Given the description of an element on the screen output the (x, y) to click on. 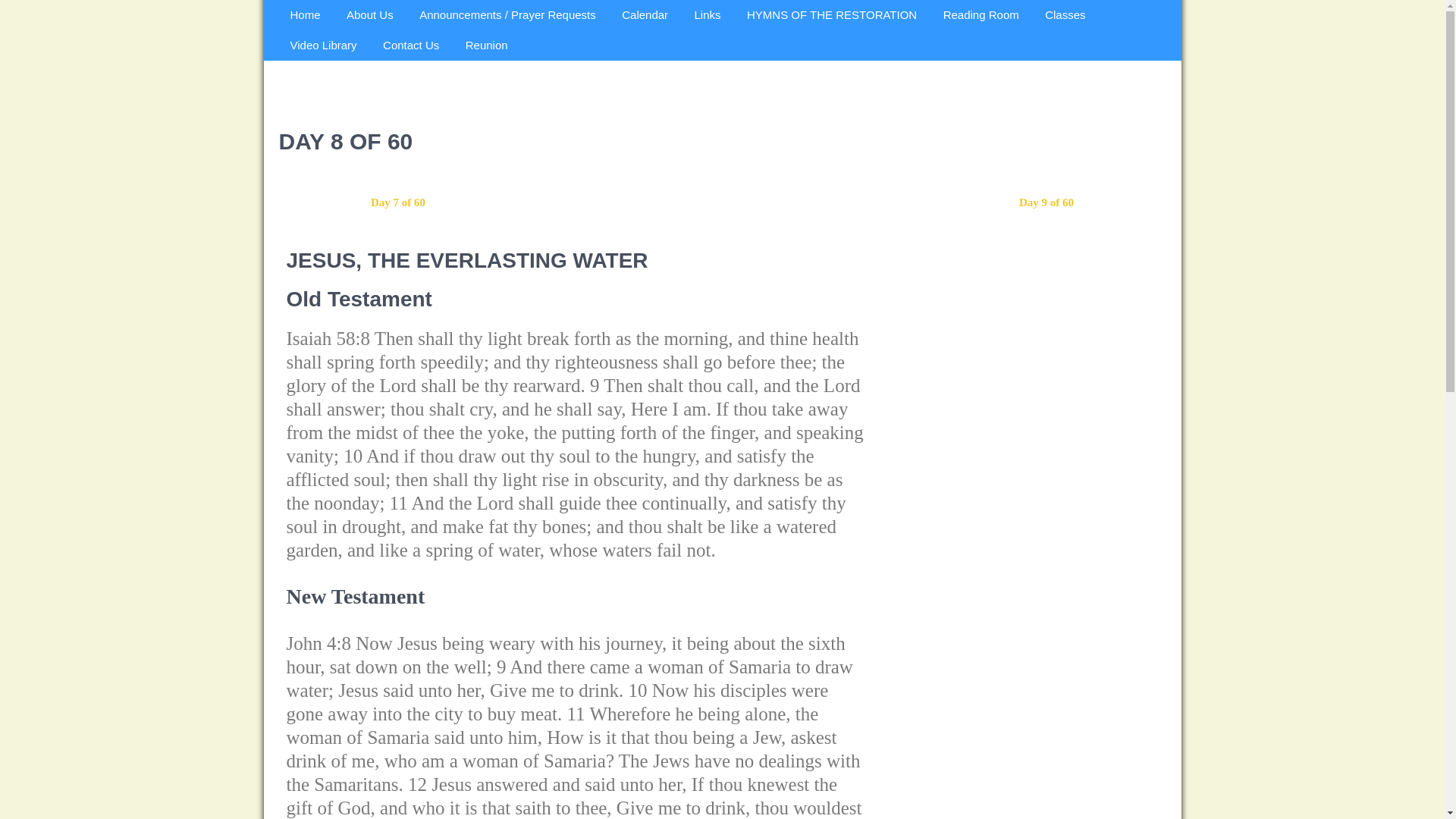
Home (305, 14)
Video Library (323, 44)
Contact Us (410, 44)
Reading Room (980, 14)
OAKWOOD RESTORATION BRANCH (379, 90)
Reunion (486, 44)
About Us (369, 14)
Classes (1064, 14)
Links (707, 14)
Calendar (644, 14)
HYMNS OF THE RESTORATION (831, 14)
Day 9 of 60 (1046, 202)
Day 7 of 60 (398, 202)
